Given the description of an element on the screen output the (x, y) to click on. 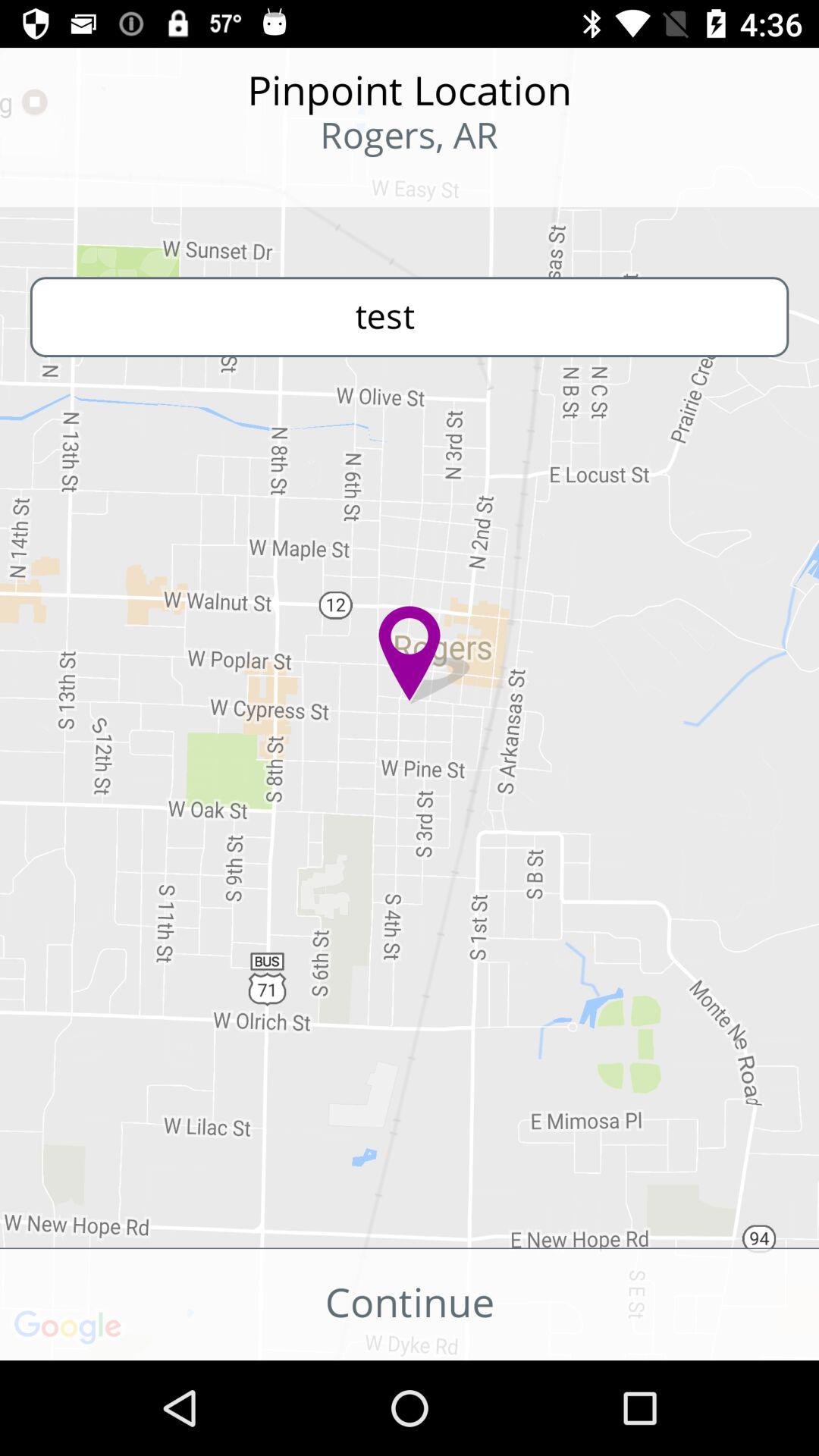
jump to the continue icon (409, 1304)
